Given the description of an element on the screen output the (x, y) to click on. 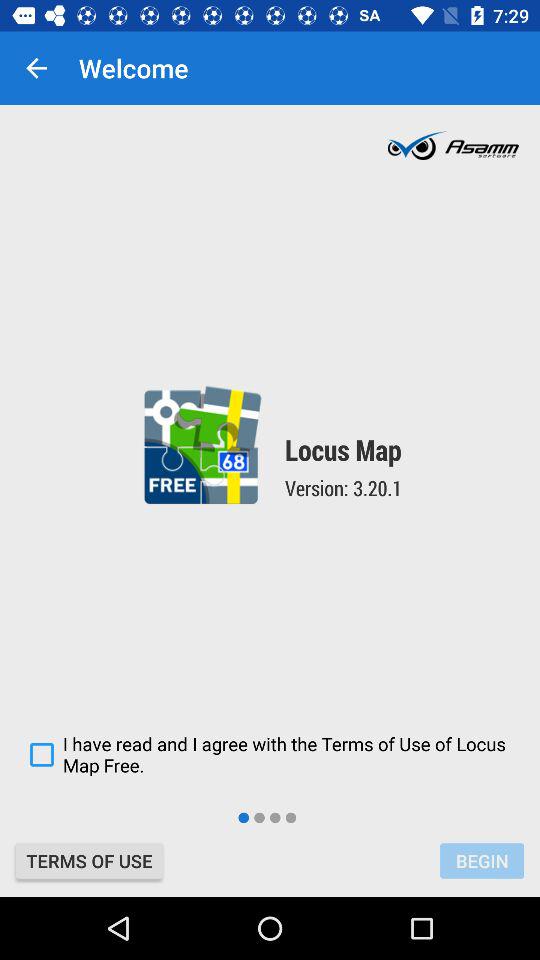
launch the app to the left of the welcome icon (36, 68)
